Given the description of an element on the screen output the (x, y) to click on. 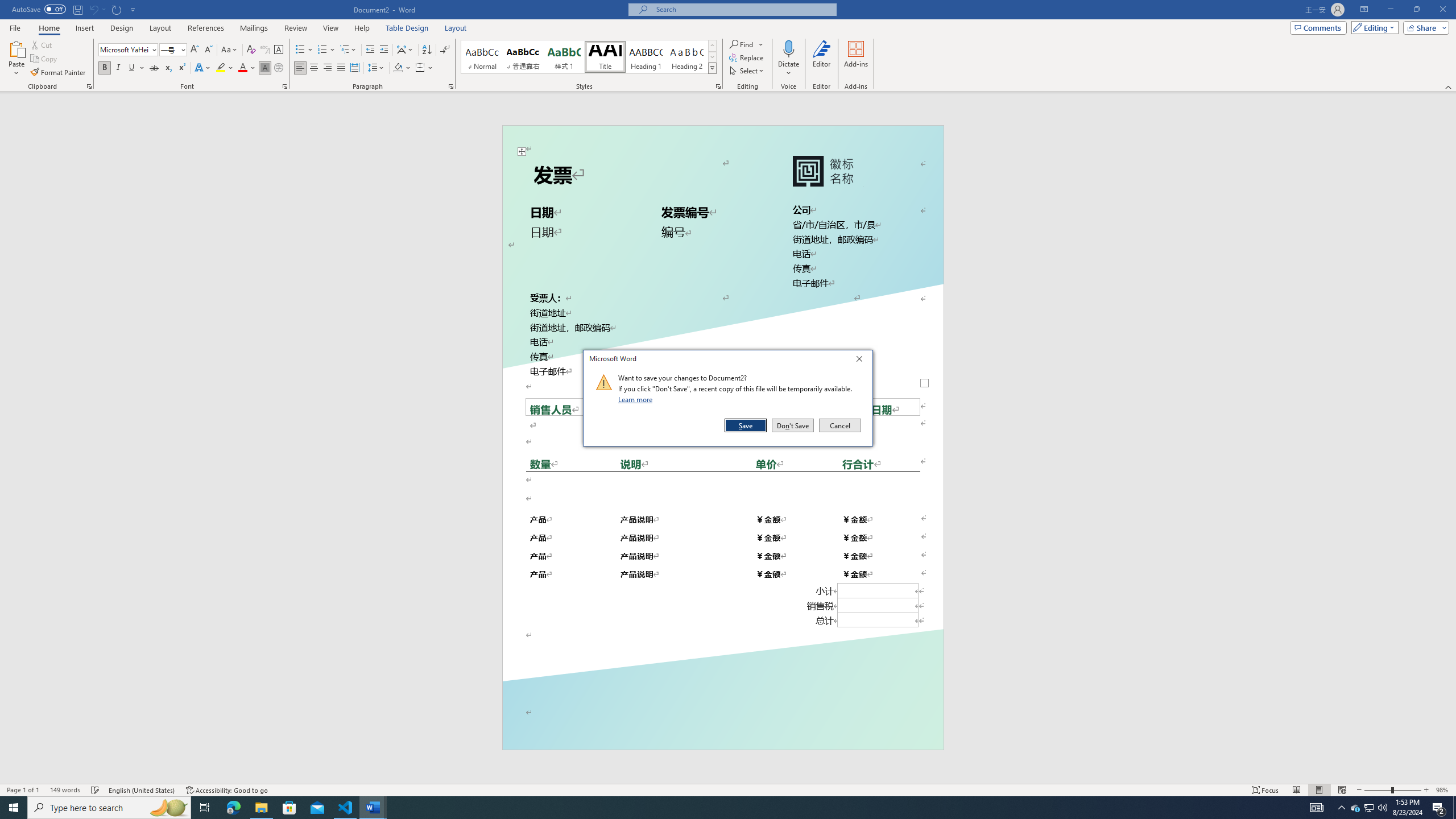
Microsoft Edge (1355, 807)
